Given the description of an element on the screen output the (x, y) to click on. 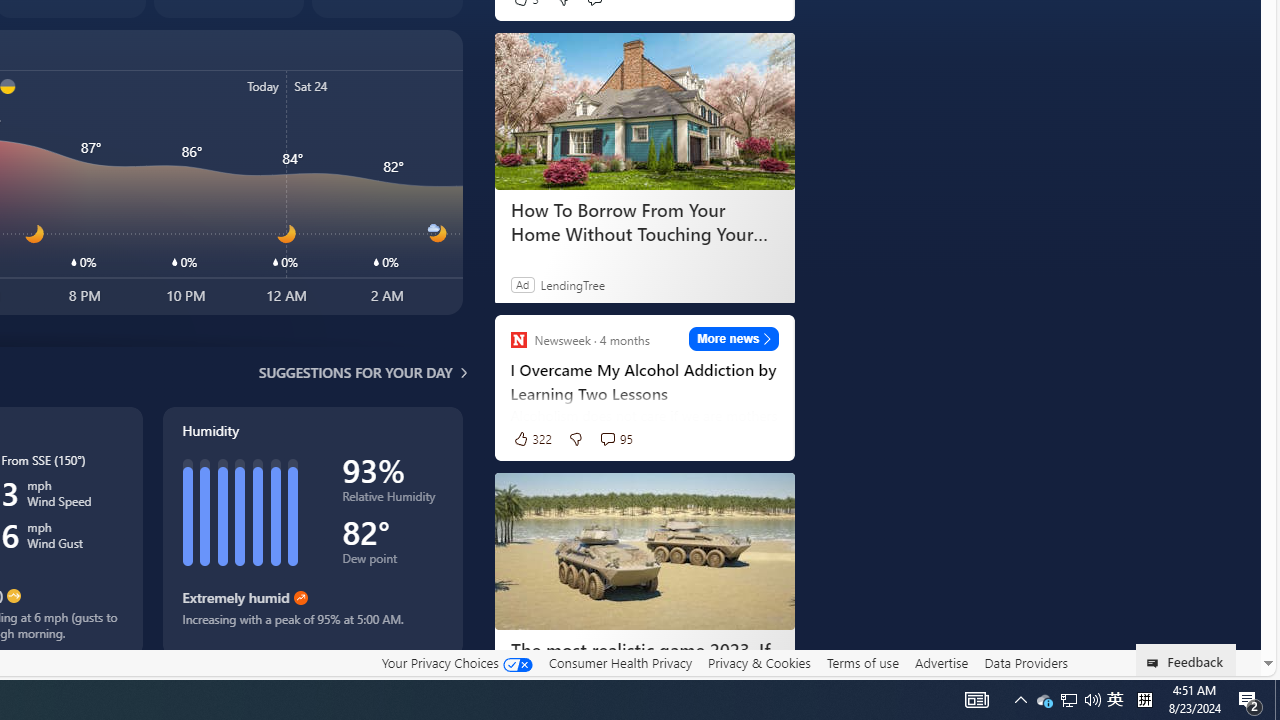
Ad (521, 284)
Class: feedback_link_icon-DS-EntryPoint1-1 (1156, 663)
Data Providers (1025, 662)
Your Privacy Choices (456, 663)
Feedback (1186, 659)
Advertise (940, 662)
Privacy & Cookies (759, 662)
Suggestions for your day (355, 372)
Advertise (940, 663)
Consumer Health Privacy (619, 662)
Dew point (391, 562)
